Given the description of an element on the screen output the (x, y) to click on. 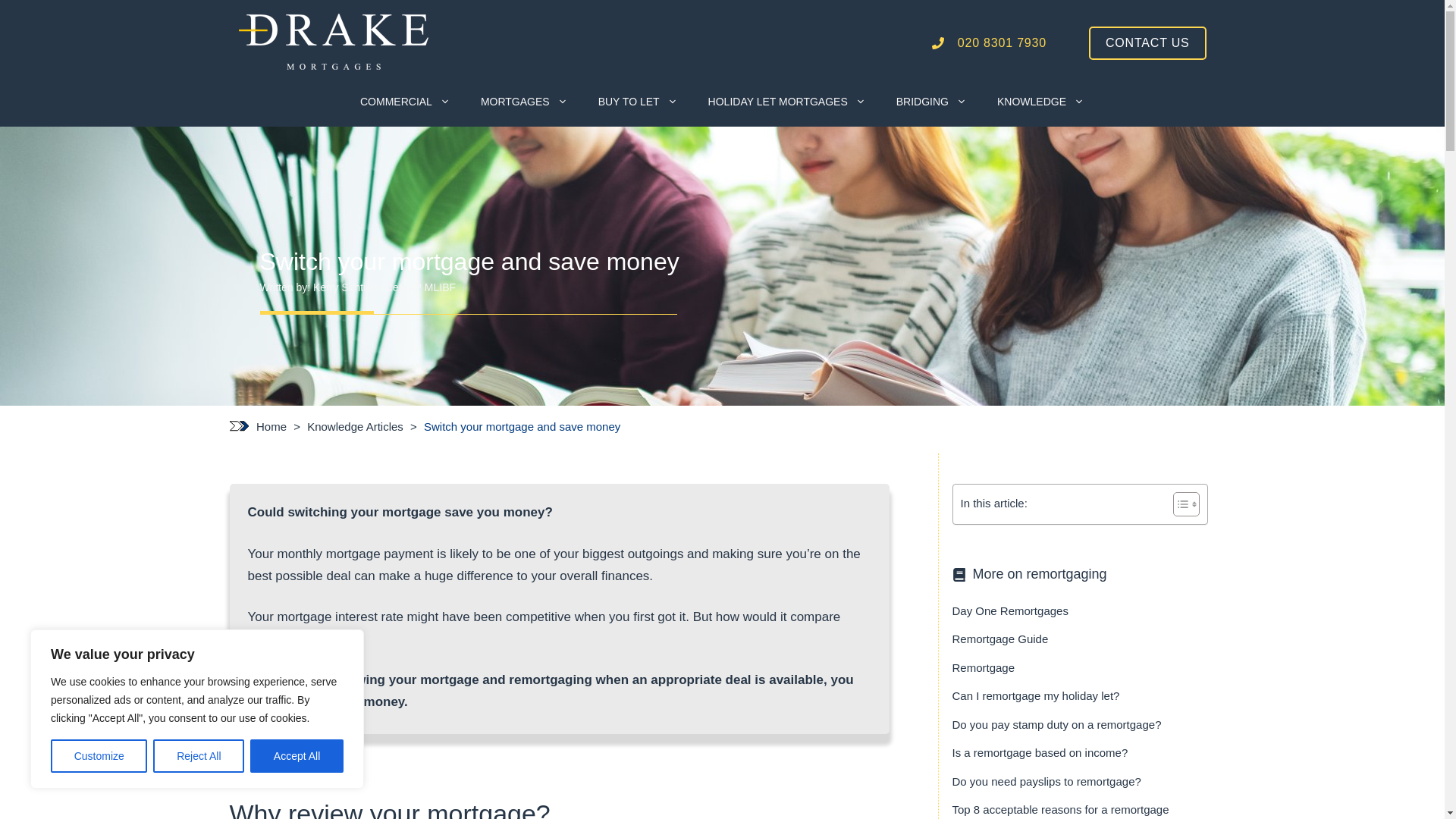
Accept All (296, 756)
Customize (98, 756)
CONTACT US (1148, 42)
Reject All (198, 756)
020 8301 7930 (989, 42)
